Given the description of an element on the screen output the (x, y) to click on. 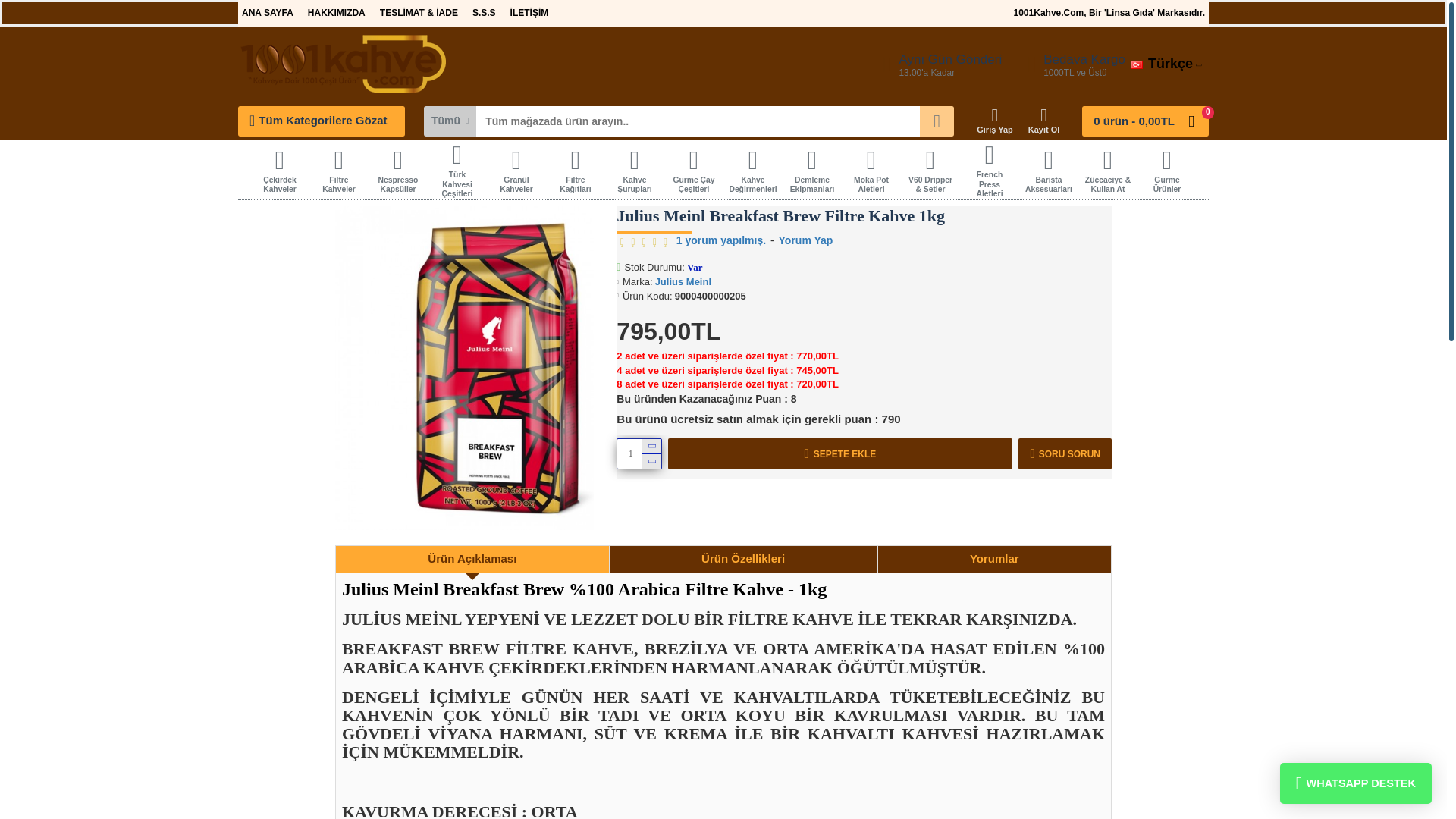
Julius Meinl Breakfast Brew Filtre Kahve 1kg (496, 367)
ANA SAYFA (267, 13)
1001Kahve.Com (343, 63)
HAKKIMIZDA (336, 13)
S.S.S (483, 13)
1 (639, 453)
